Given the description of an element on the screen output the (x, y) to click on. 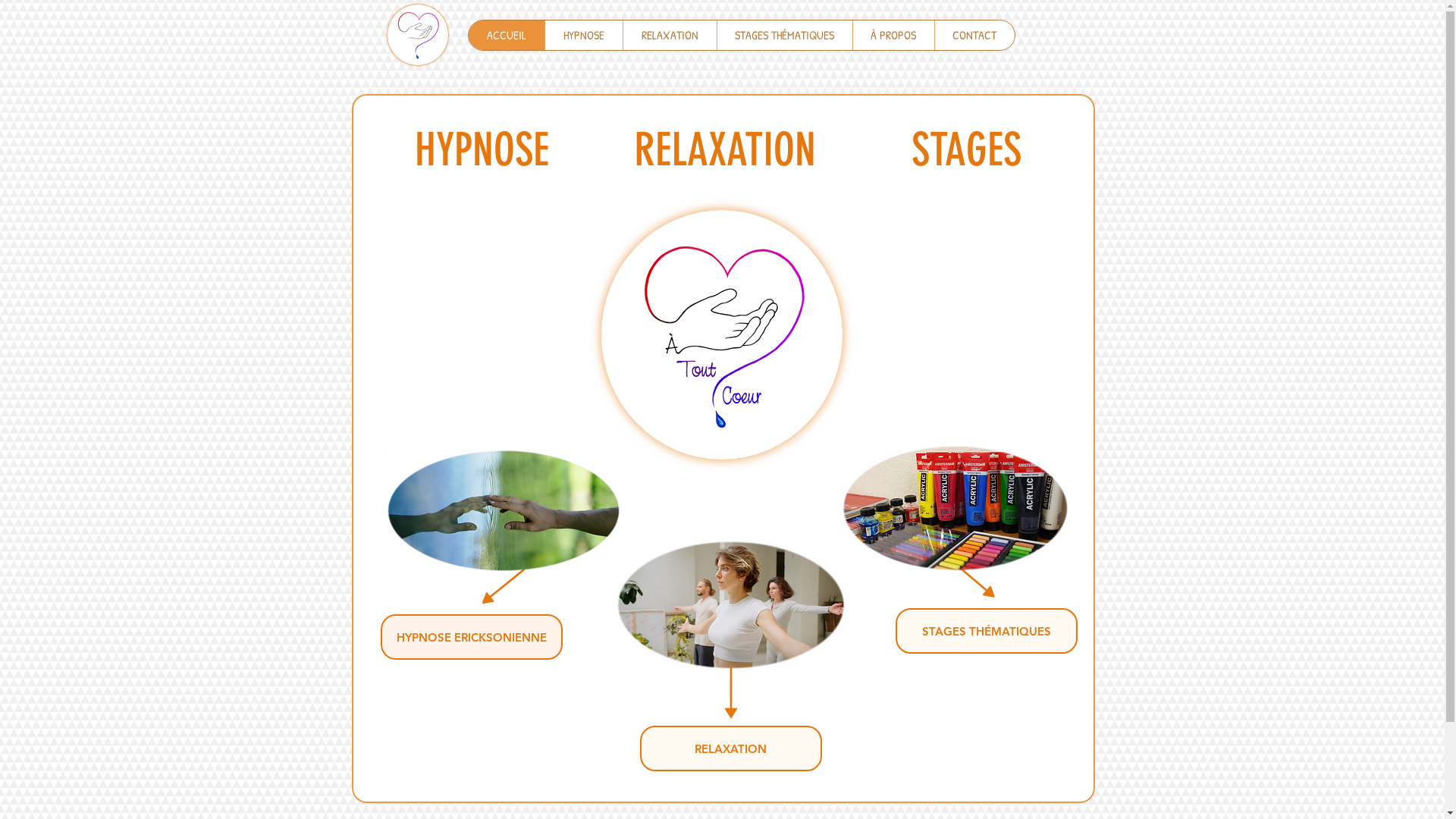
CONTACT Element type: text (974, 35)
STAGES Element type: text (960, 149)
ACCUEIL Element type: text (506, 35)
RELAXATION Element type: text (731, 748)
RELAXATION Element type: text (729, 149)
HYPNOSE ERICKSONIENNE Element type: text (471, 636)
HYPNOSE Element type: text (583, 35)
RELAXATION Element type: text (668, 35)
HYPNOSE Element type: text (481, 149)
